Given the description of an element on the screen output the (x, y) to click on. 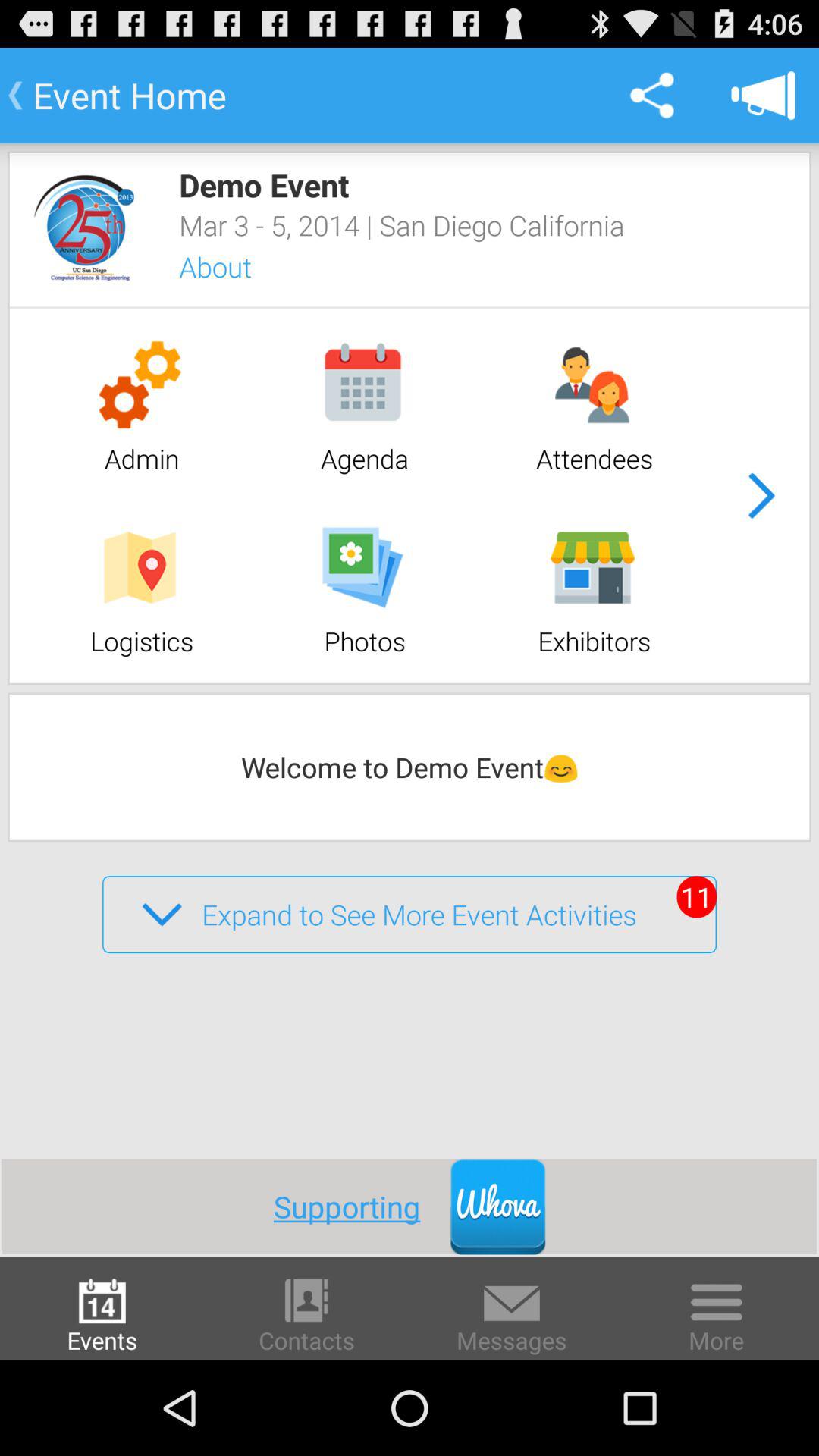
turn on app below expand to see icon (361, 1206)
